Given the description of an element on the screen output the (x, y) to click on. 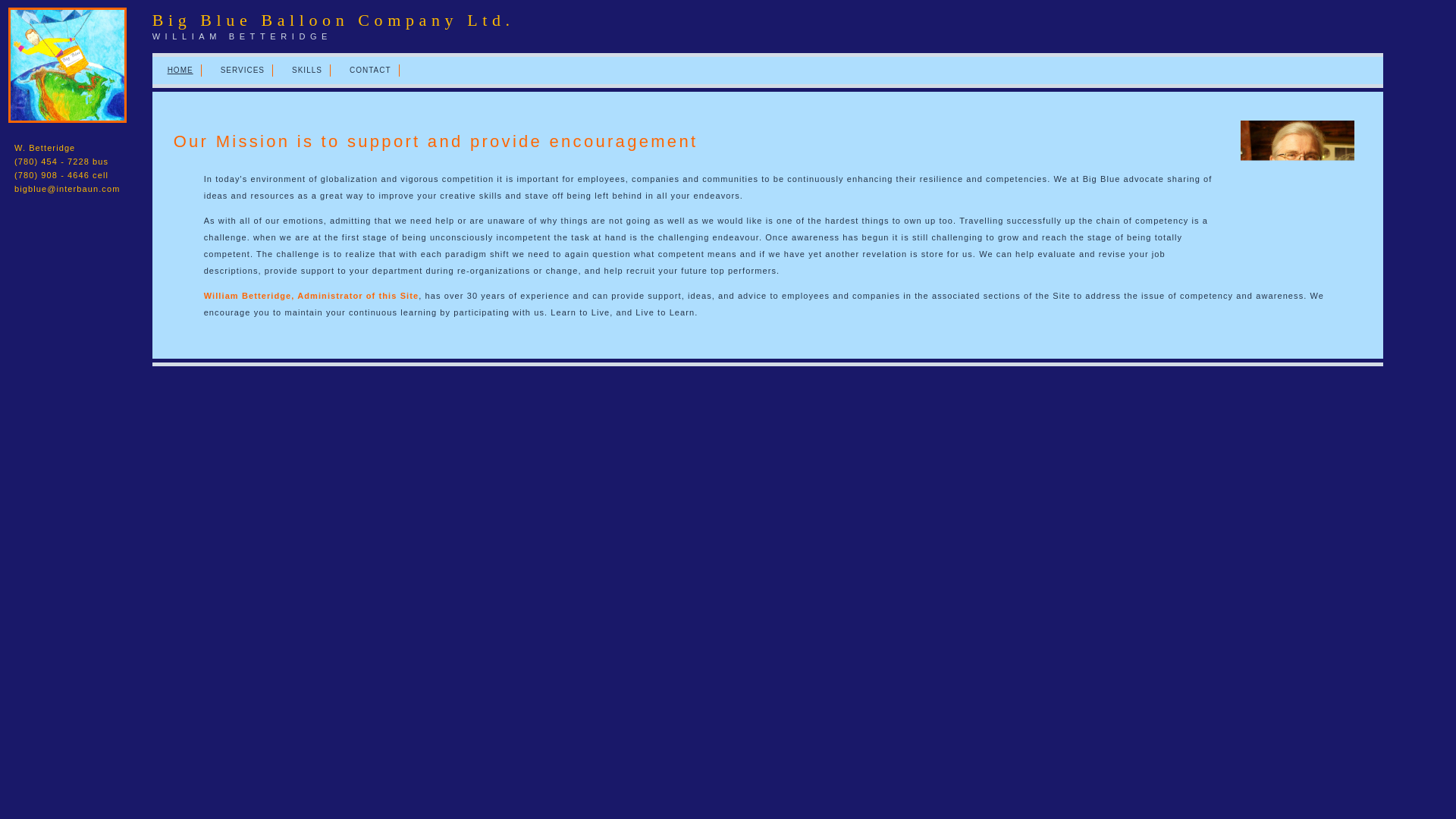
CONTACT (370, 70)
SKILLS (306, 70)
William Betteridge, Administrator of this Site (311, 295)
SERVICES (242, 70)
HOME (181, 70)
